Given the description of an element on the screen output the (x, y) to click on. 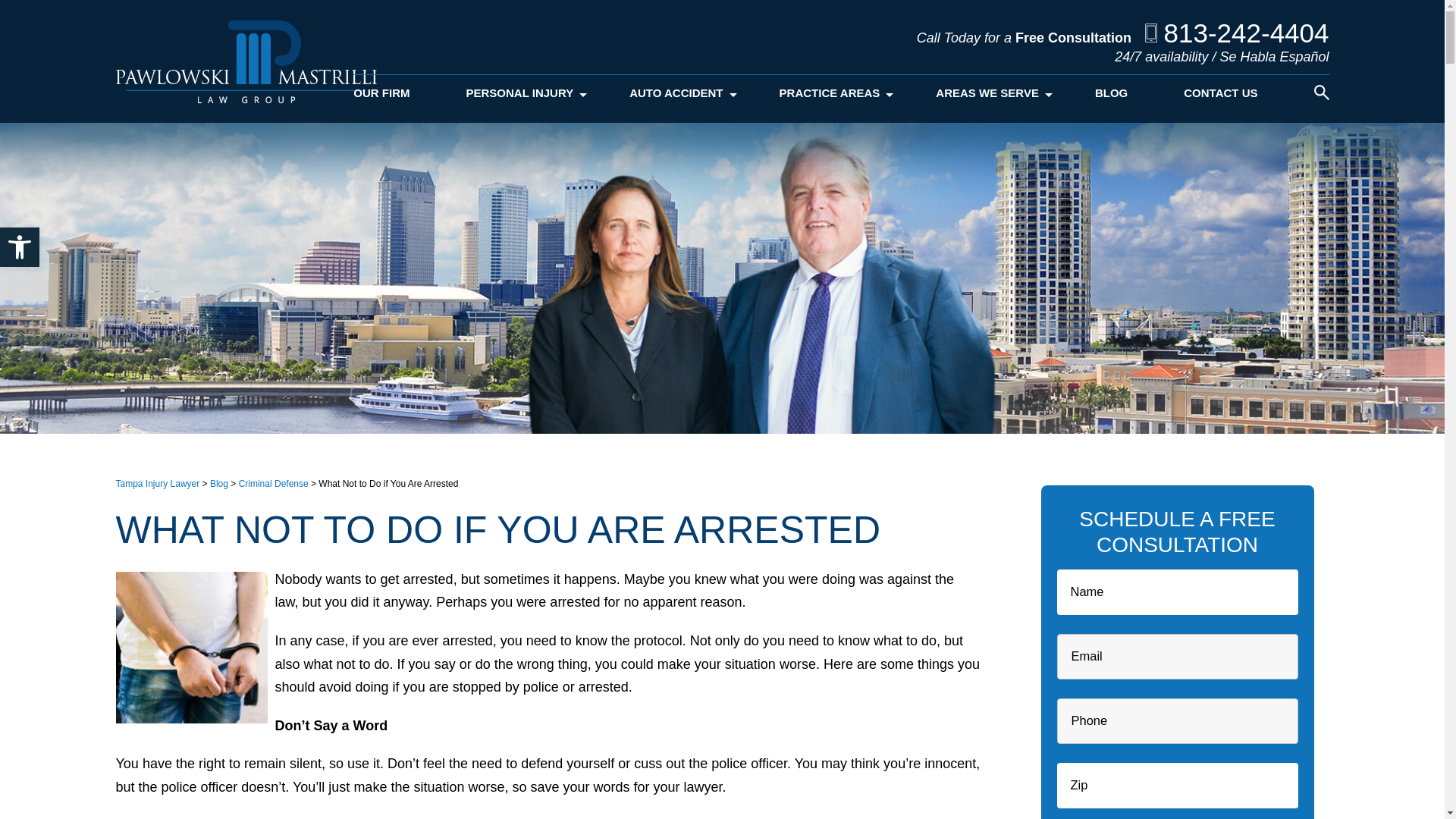
Accessibility Tools (19, 246)
OUR FIRM (381, 98)
Accessibility Tools (19, 247)
What Not to Do if You Are Arrested (190, 647)
813-242-4404 (1236, 32)
AUTO ACCIDENT (675, 98)
PERSONAL INJURY (519, 98)
